Given the description of an element on the screen output the (x, y) to click on. 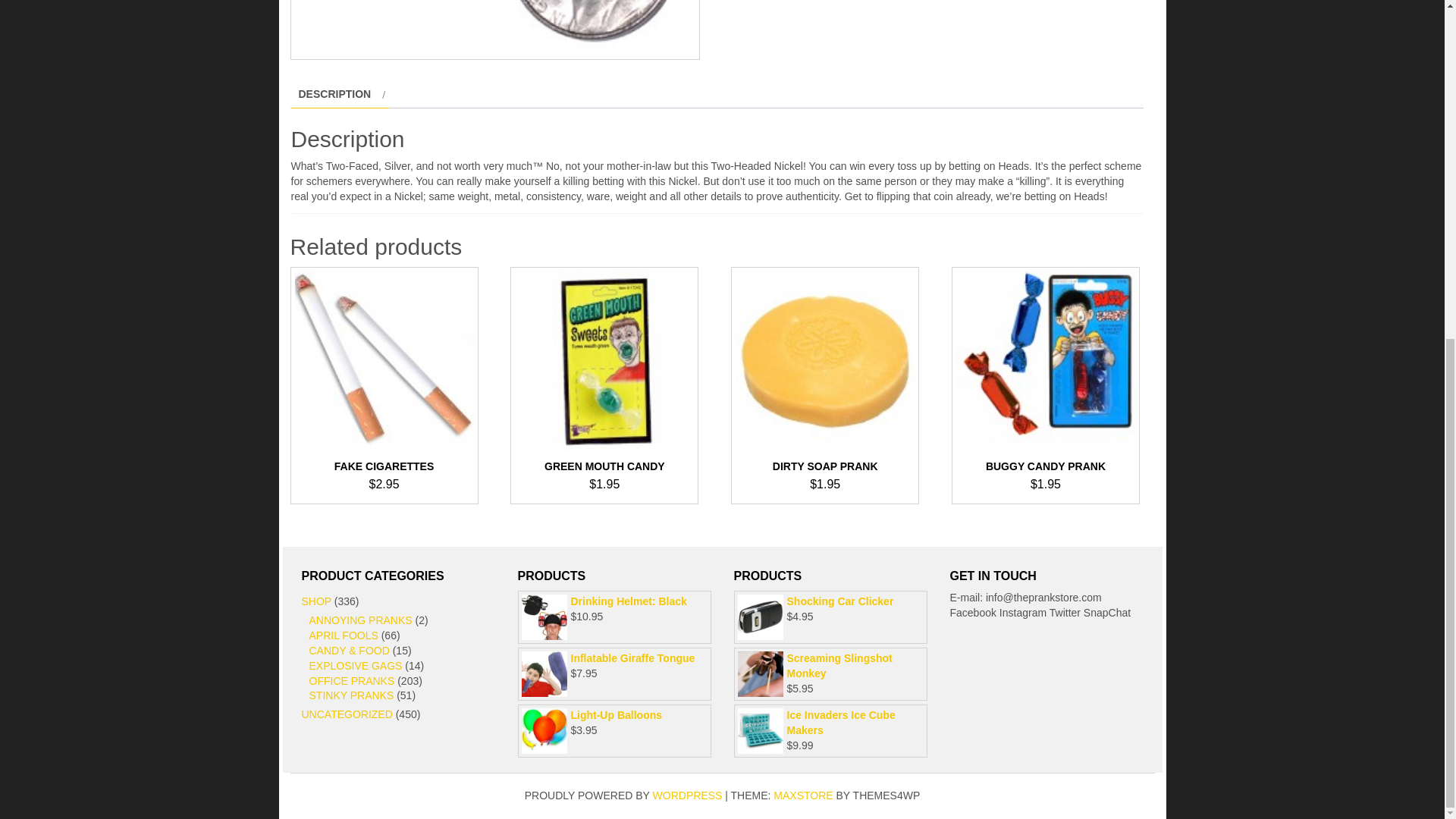
Two Headed Nickel Prank (493, 29)
Free WooCommerce WordPress Theme (802, 795)
DESCRIPTION (334, 94)
